Given the description of an element on the screen output the (x, y) to click on. 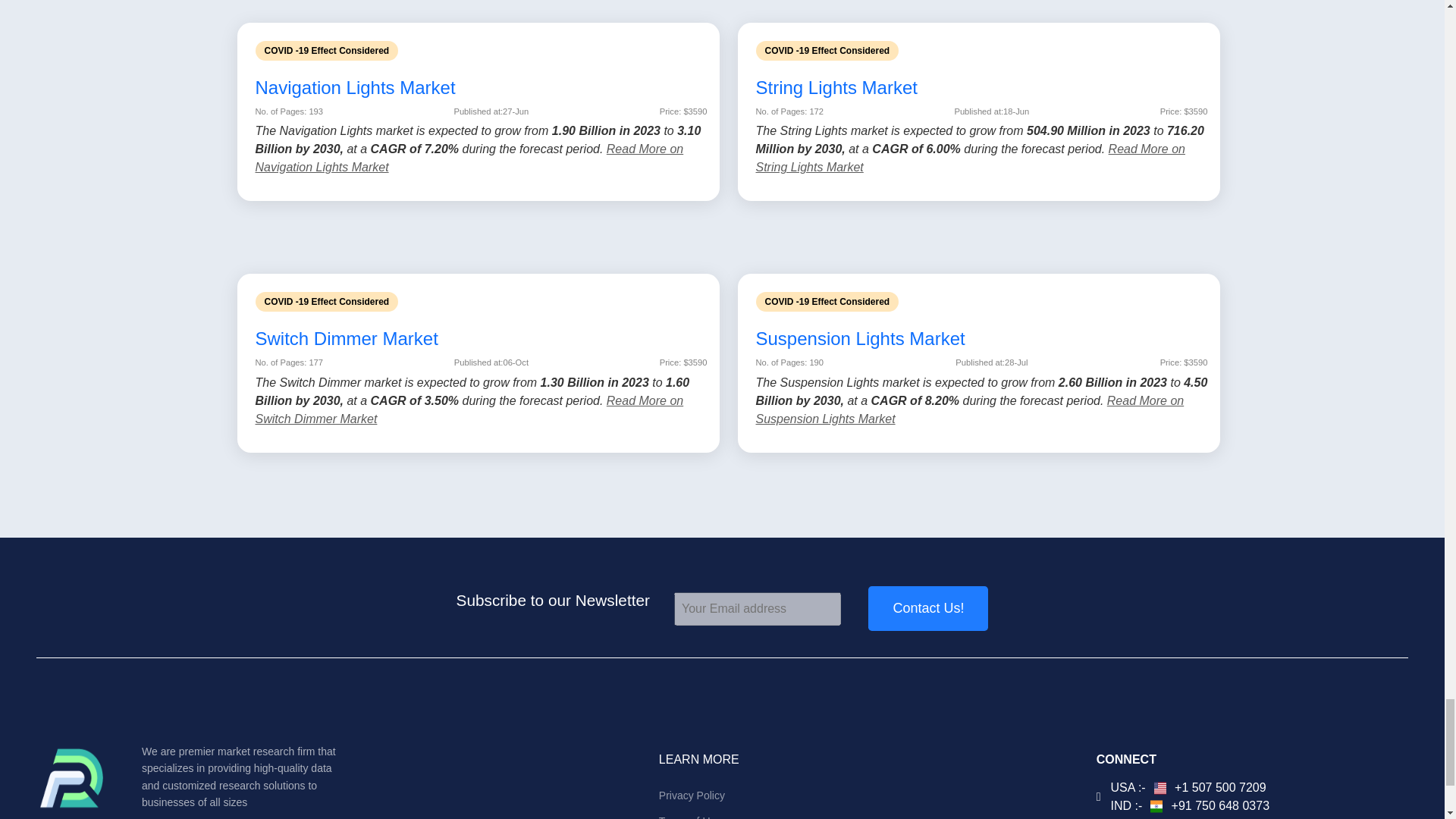
category (981, 87)
category (480, 87)
category (981, 339)
category (480, 339)
